Given the description of an element on the screen output the (x, y) to click on. 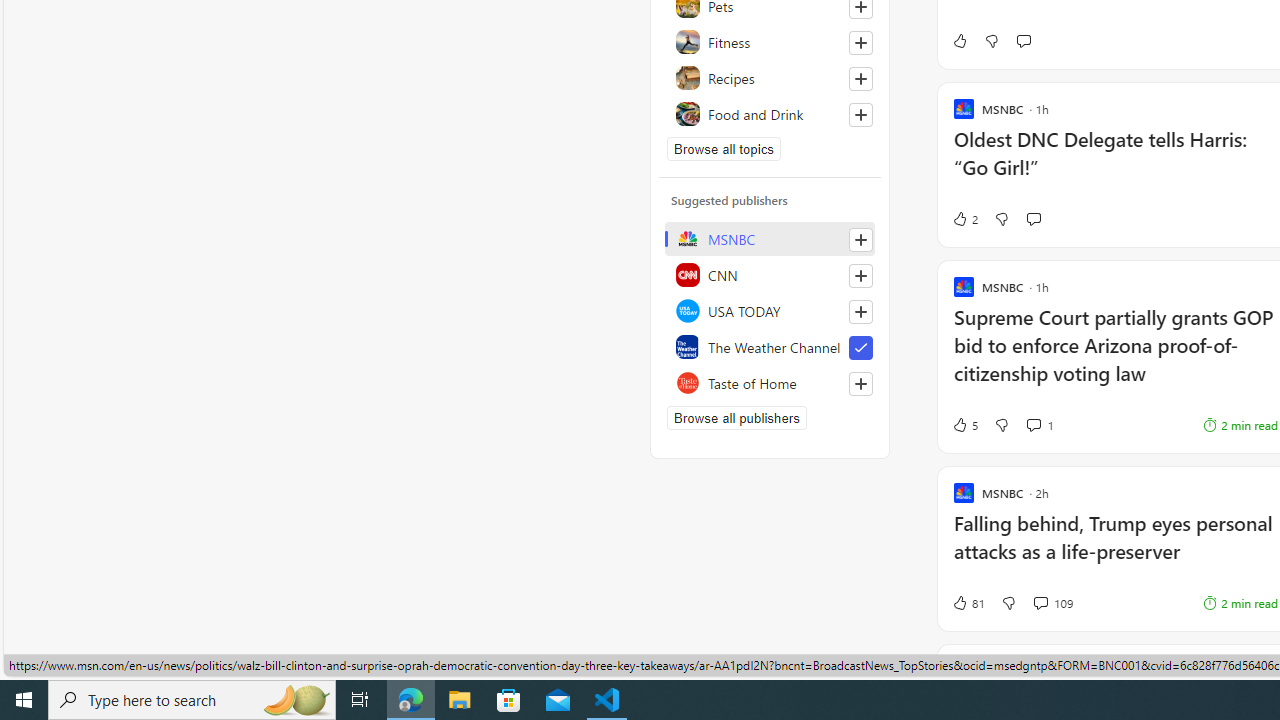
CNN (770, 274)
